Given the description of an element on the screen output the (x, y) to click on. 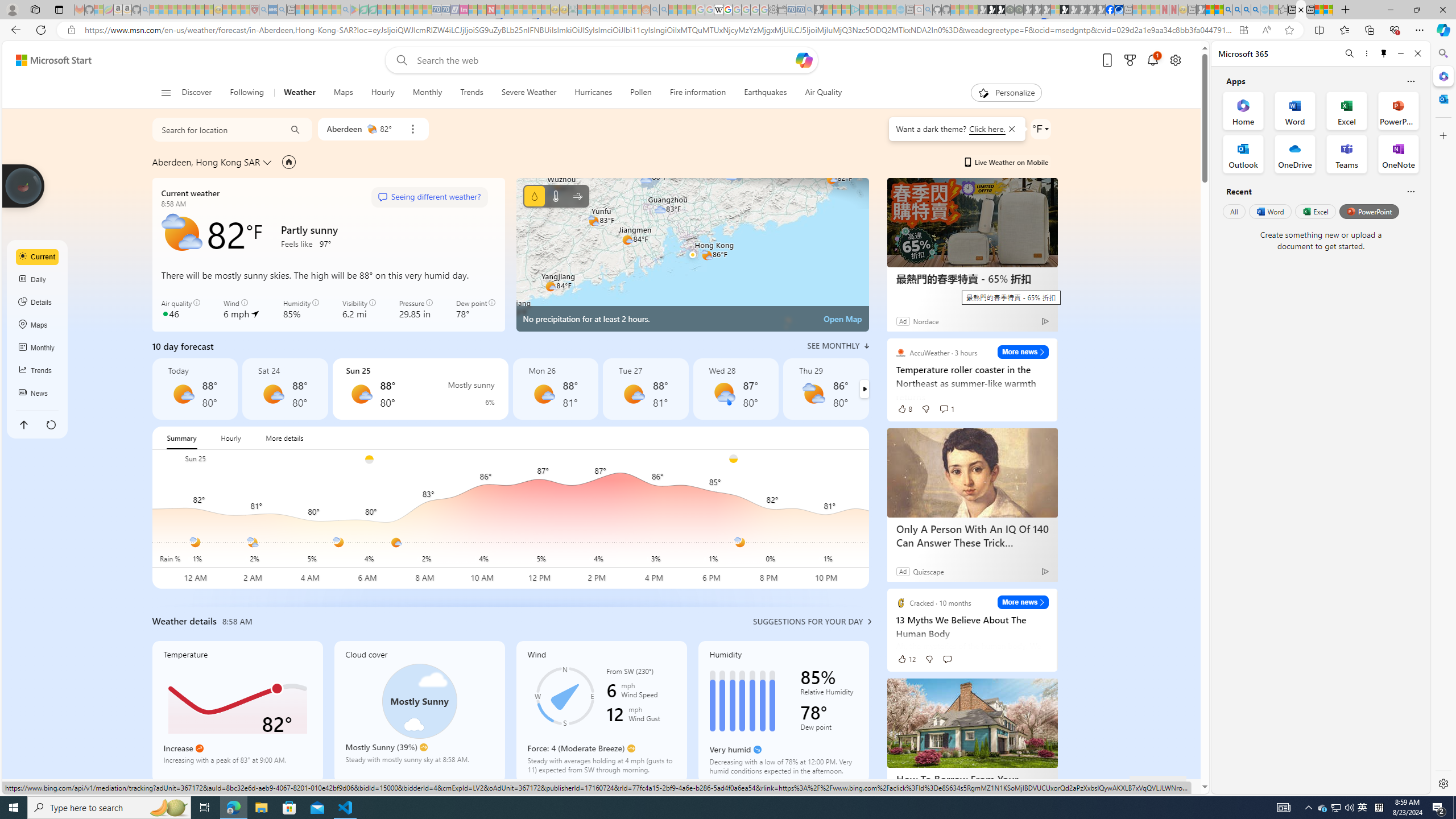
Change location (268, 161)
Class: aqiColorCycle-DS-EntryPoint1-1 (164, 313)
Trends (471, 92)
Kinda Frugal - MSN - Sleeping (617, 9)
Consumer Health Privacy (835, 786)
Trends (471, 92)
Monthly (427, 92)
Partly sunny (813, 393)
Severe Weather (529, 92)
